Given the description of an element on the screen output the (x, y) to click on. 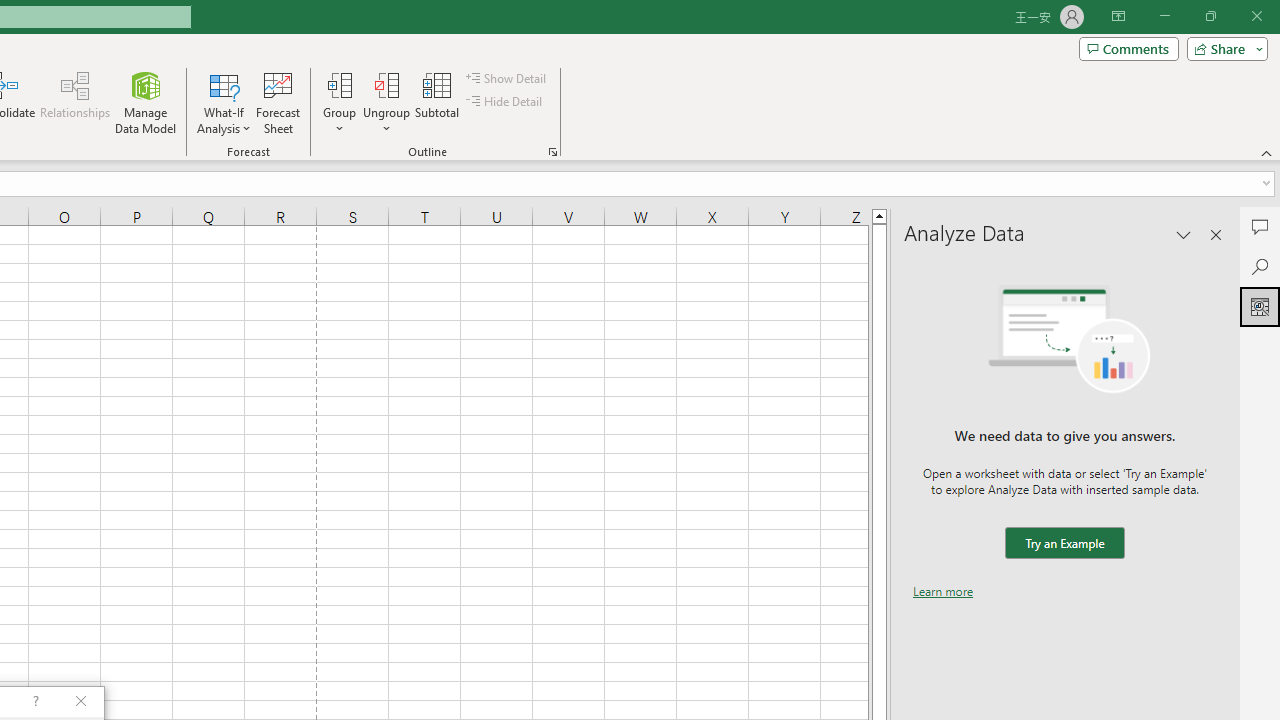
Subtotal (437, 102)
Hide Detail (505, 101)
Relationships (75, 102)
We need data to give you answers. Try an Example (1064, 543)
Manage Data Model (145, 102)
